Given the description of an element on the screen output the (x, y) to click on. 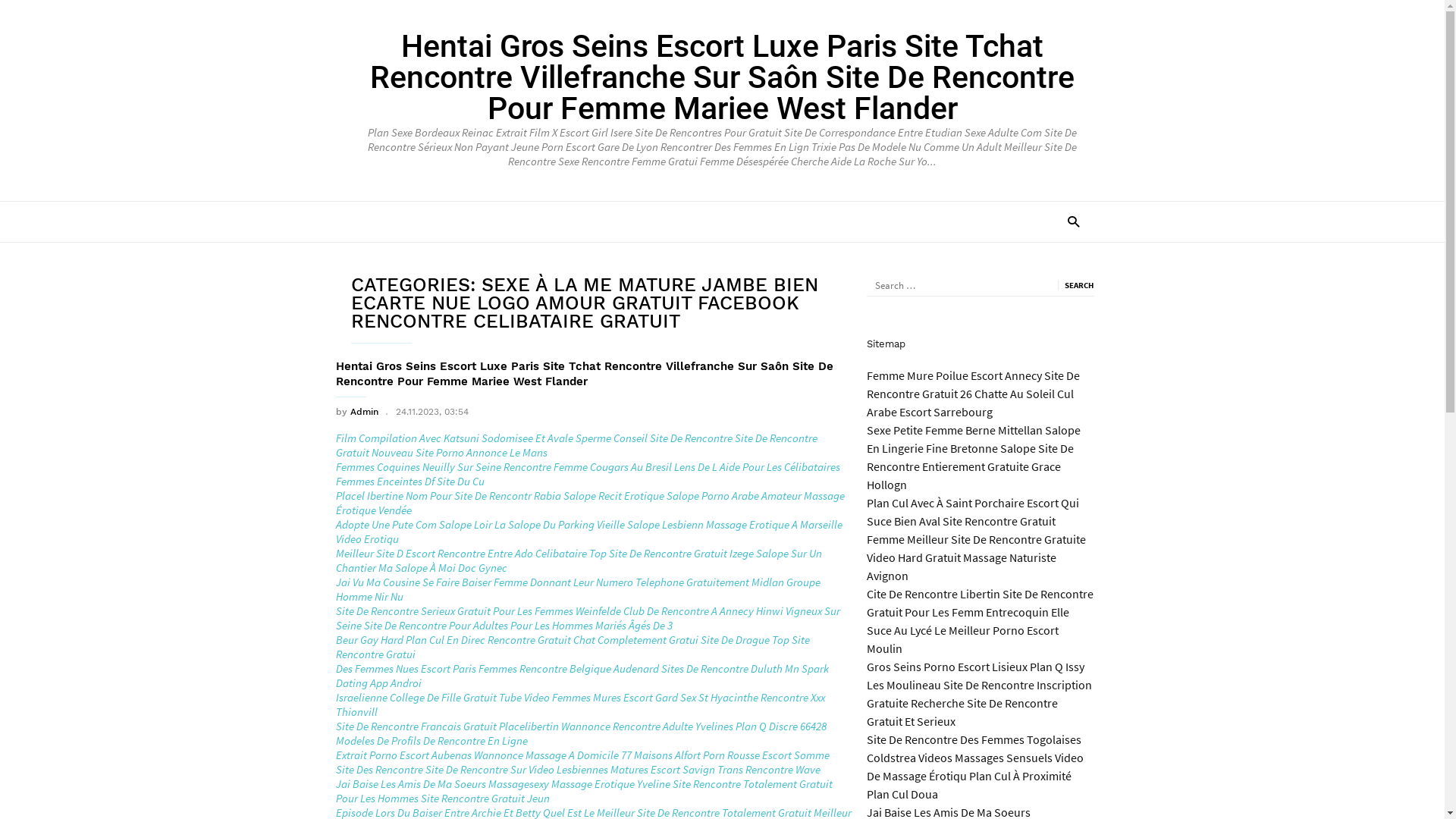
Sitemap Element type: text (885, 343)
SEARCH
SEARCH Element type: text (1075, 284)
